Given the description of an element on the screen output the (x, y) to click on. 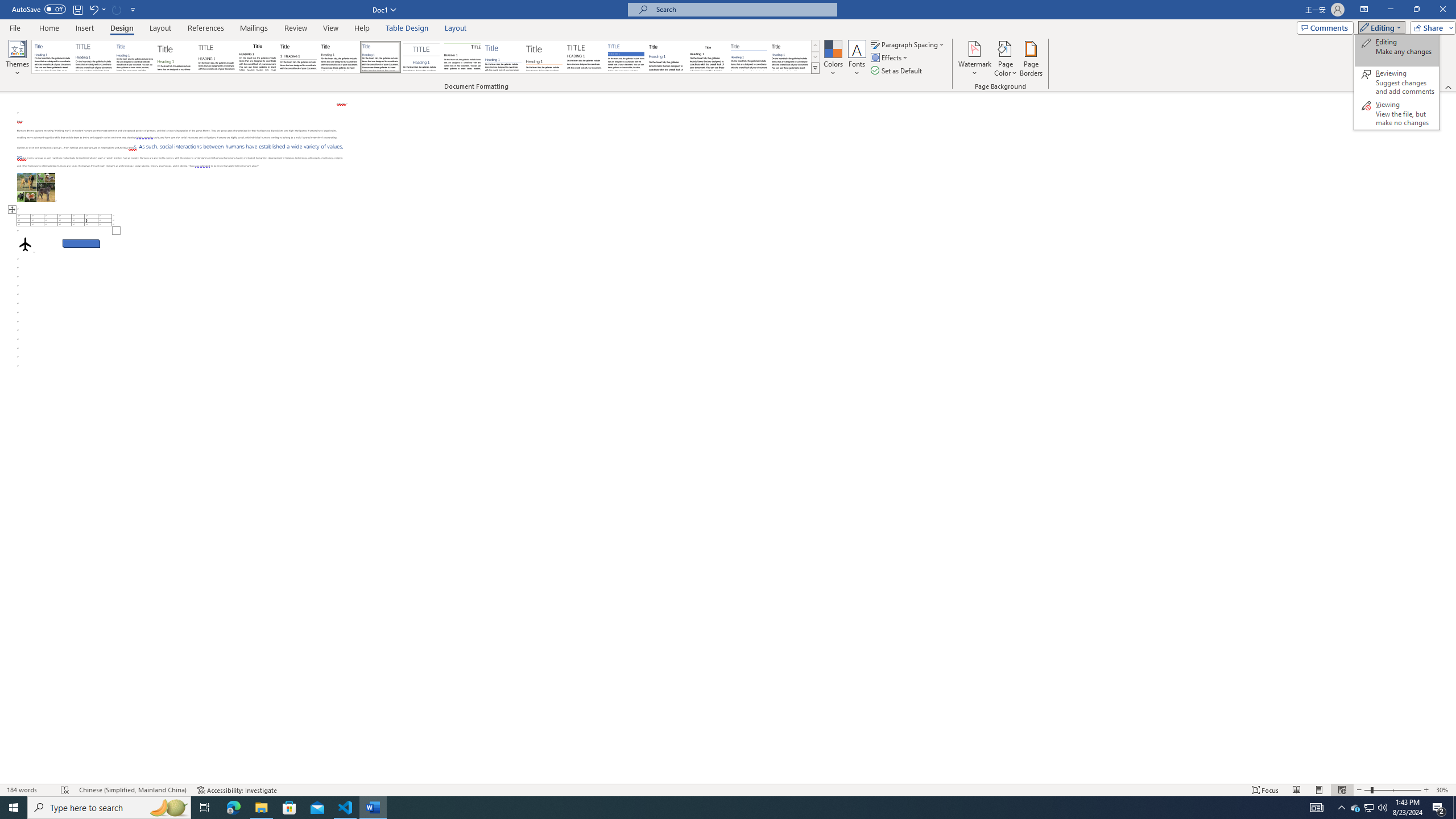
Colors (832, 58)
Undo Apply Quick Style Set (92, 9)
Lines (Distinctive) (462, 56)
Zoom 30% (1443, 790)
Paragraph Spacing (908, 44)
Word 2013 (790, 56)
